Given the description of an element on the screen output the (x, y) to click on. 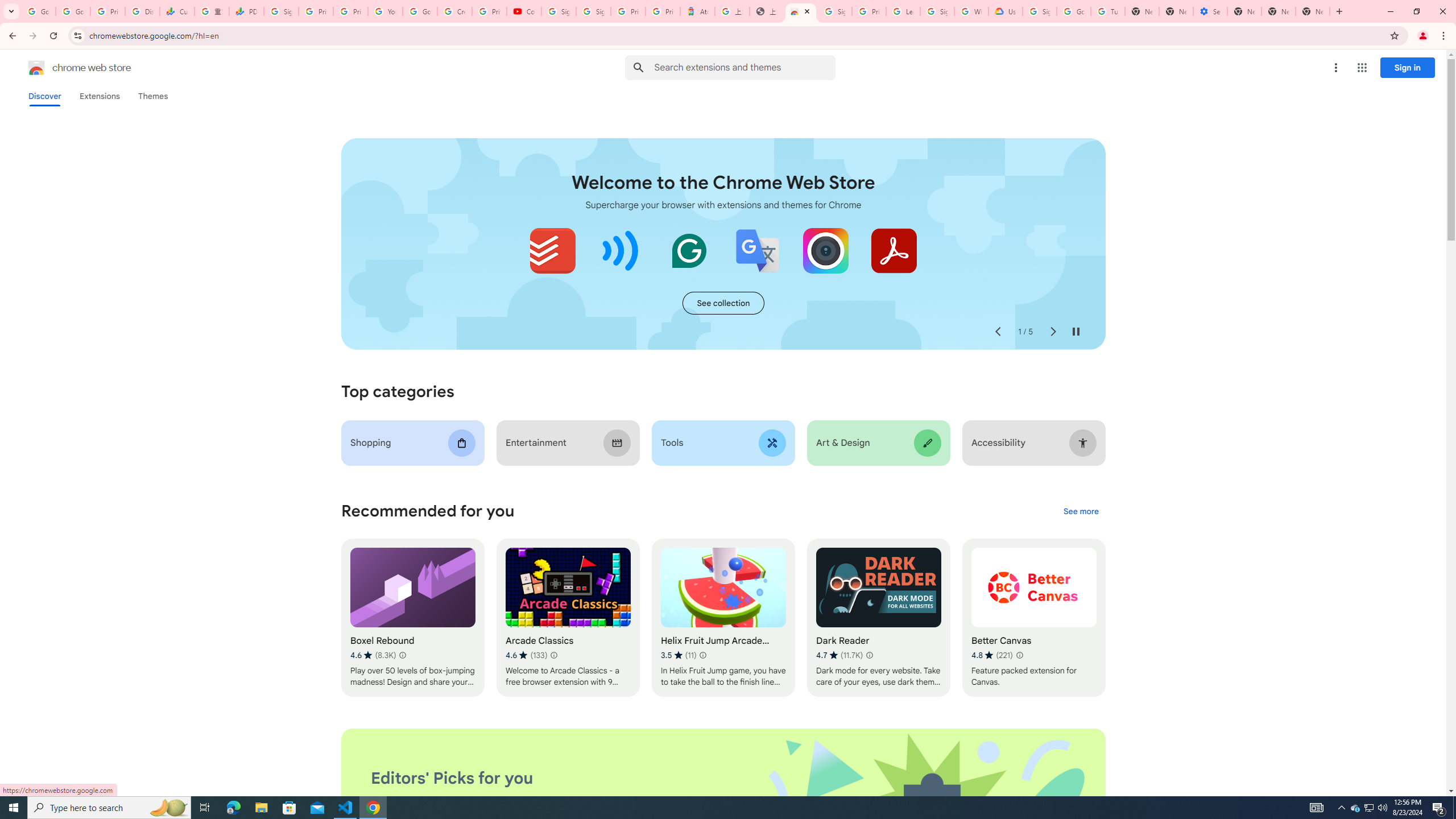
Better Canvas (1033, 617)
Dark Reader (878, 617)
Google Account Help (419, 11)
Google Workspace Admin Community (38, 11)
Previous slide (997, 331)
Currencies - Google Finance (176, 11)
Create your Google Account (454, 11)
Themes (152, 95)
Learn more about results and reviews "Better Canvas" (1019, 655)
See more of the "Extensions starter kit" collection (722, 303)
